Given the description of an element on the screen output the (x, y) to click on. 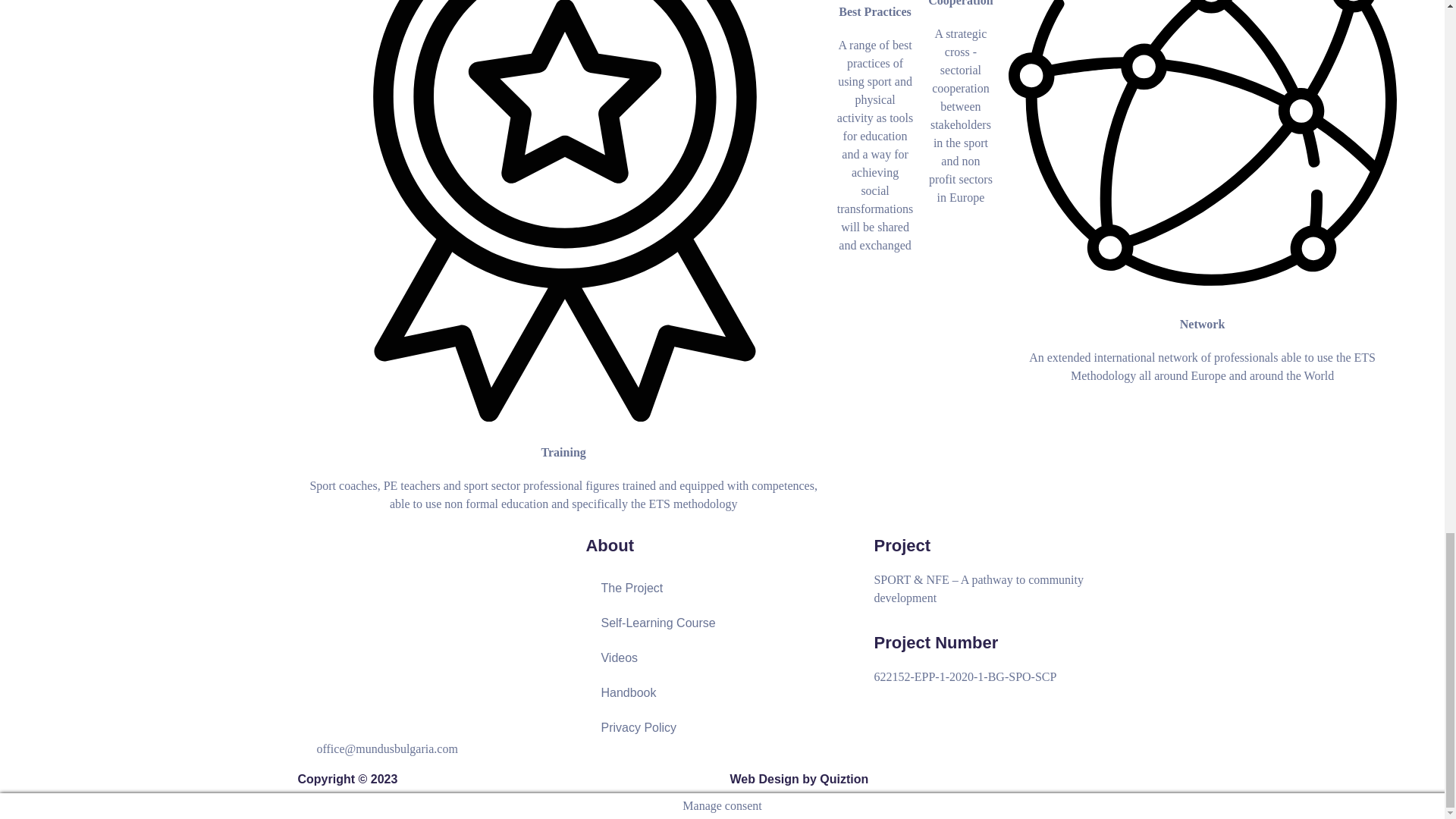
Web Design by Quiztion (798, 779)
Videos (722, 657)
Privacy Policy (722, 727)
The Project (722, 588)
Self-Learning Course (722, 623)
Handbook (722, 692)
